Given the description of an element on the screen output the (x, y) to click on. 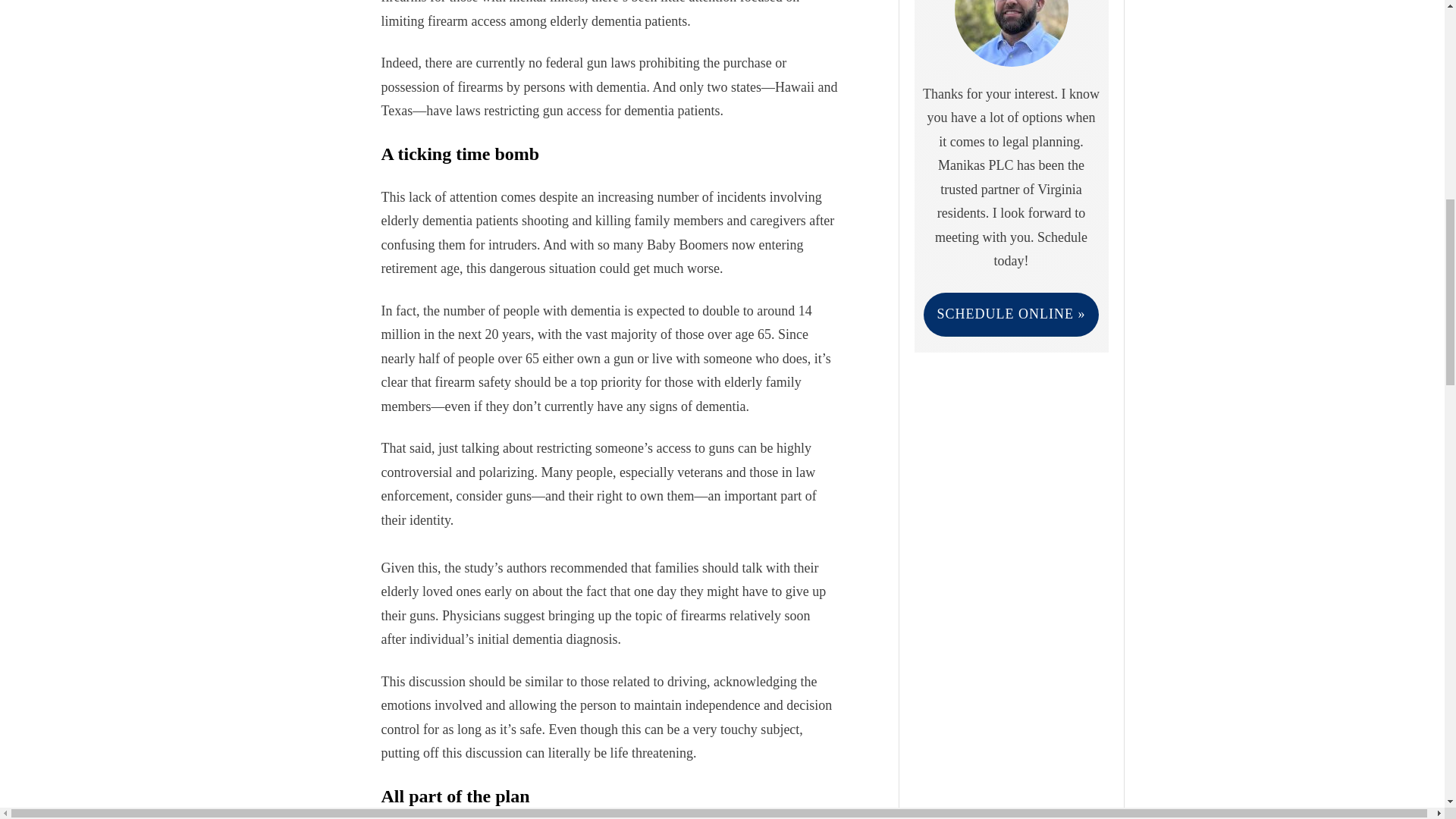
Kyle Manikas Estate Planning Bio Pic 300sq (1010, 33)
